Given the description of an element on the screen output the (x, y) to click on. 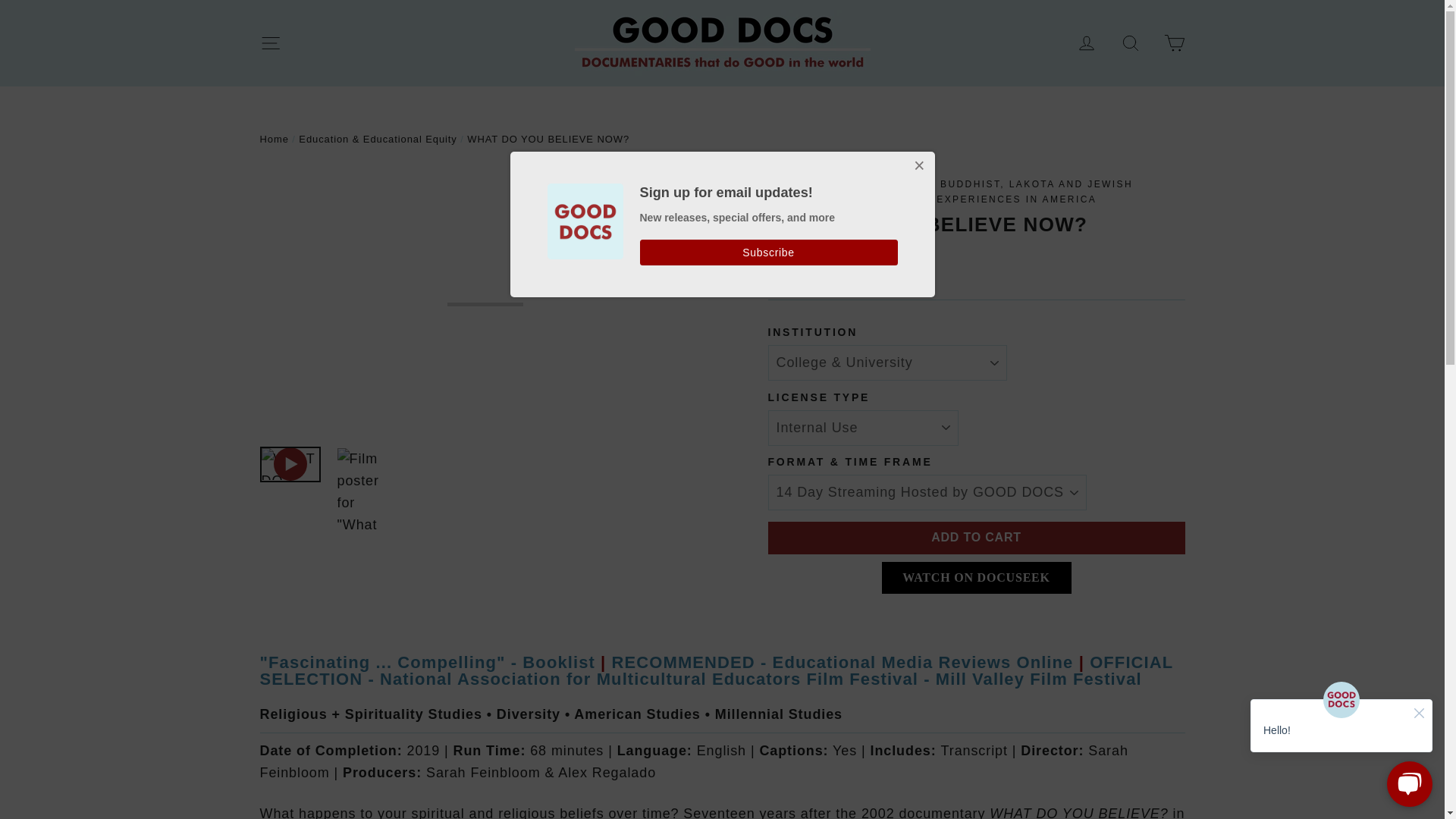
Log in (1086, 42)
Back to the frontpage (273, 138)
Site navigation (269, 42)
WATCH ON DOCUSEEK (975, 576)
Search (1130, 42)
